Given the description of an element on the screen output the (x, y) to click on. 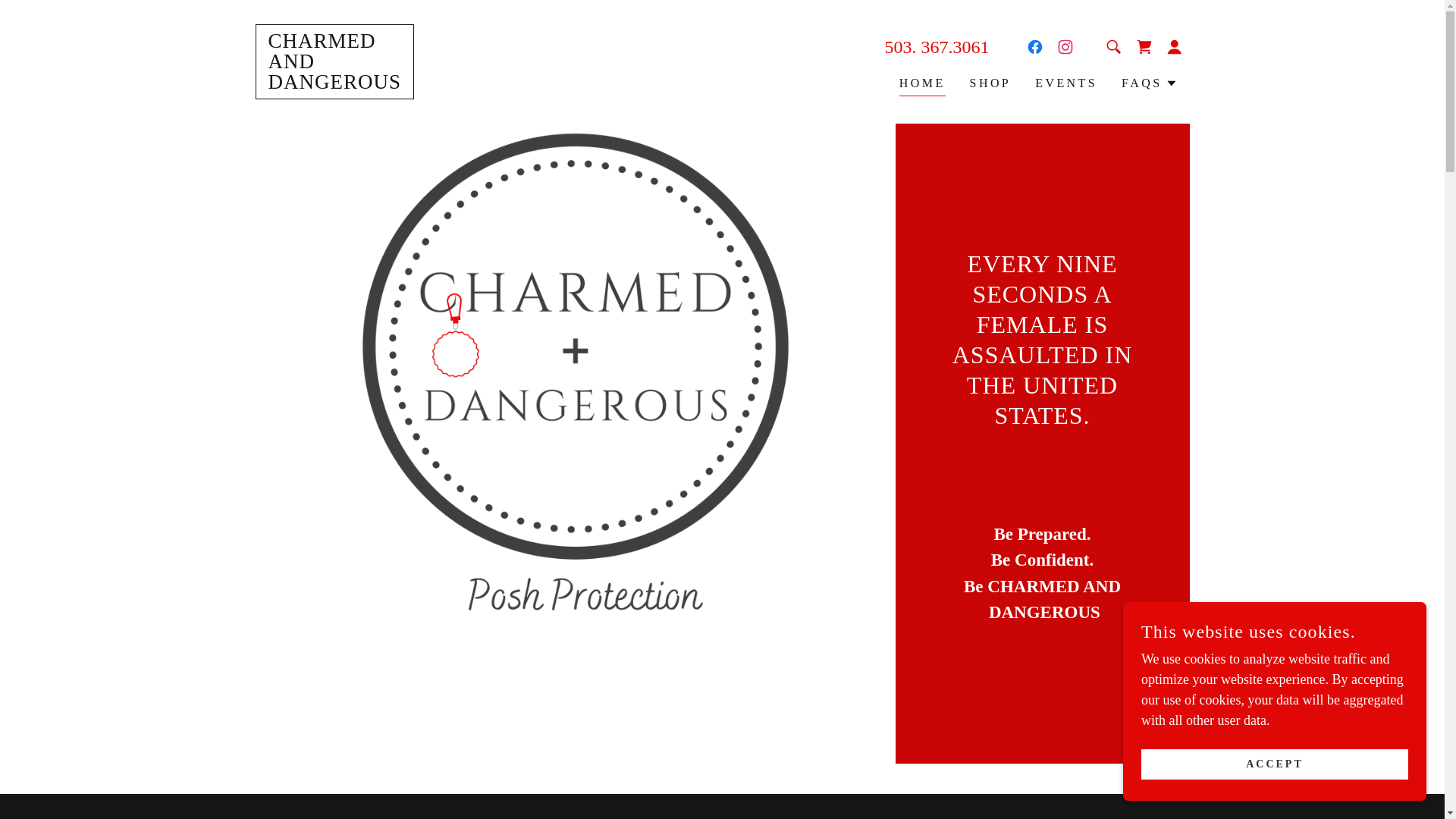
503. 367.3061 (935, 46)
SHOP (333, 83)
EVENTS (990, 83)
HOME (1066, 83)
FAQS (921, 85)
